Given the description of an element on the screen output the (x, y) to click on. 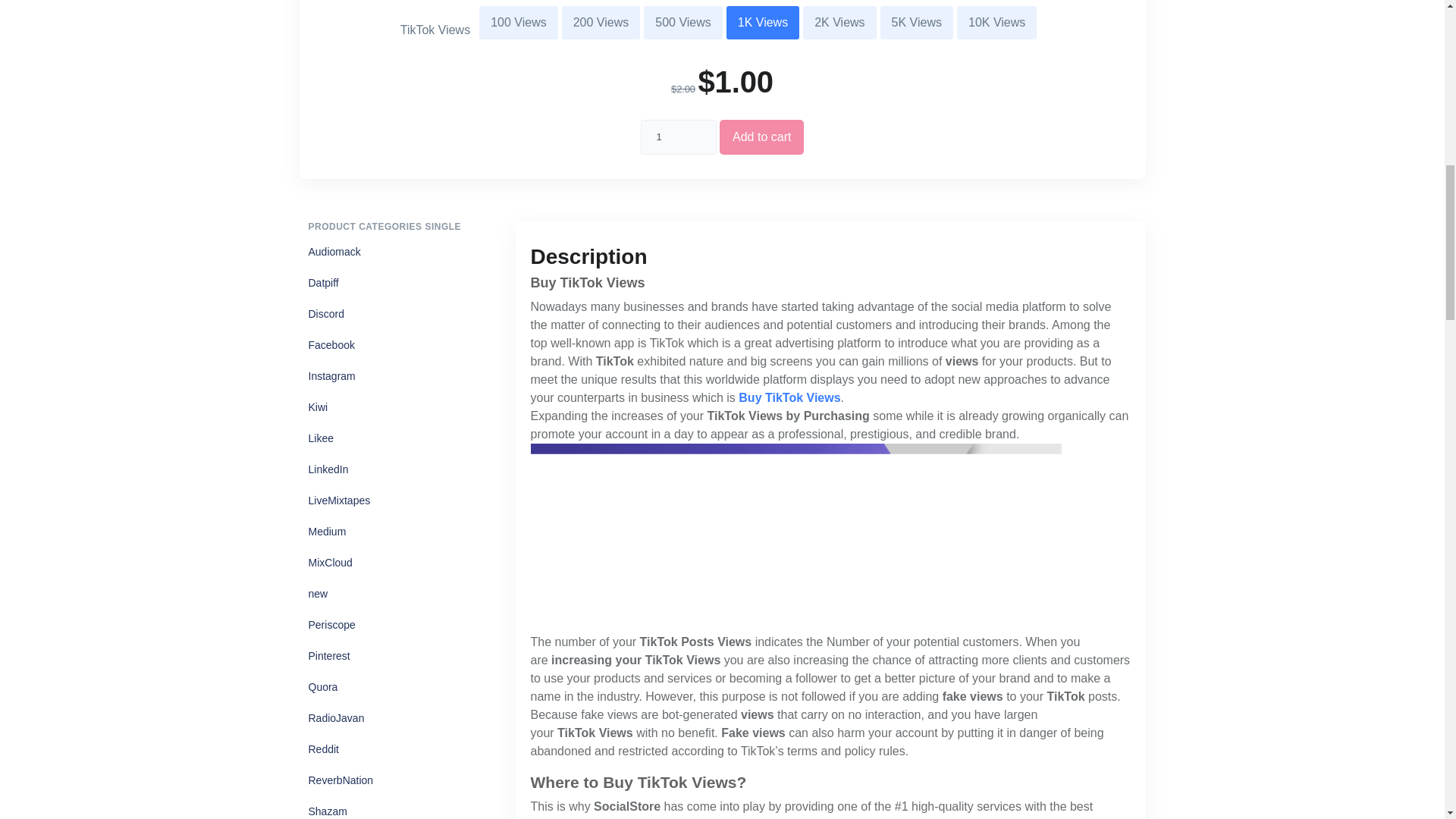
Qty (678, 136)
Add to cart (761, 136)
1 (678, 136)
